Given the description of an element on the screen output the (x, y) to click on. 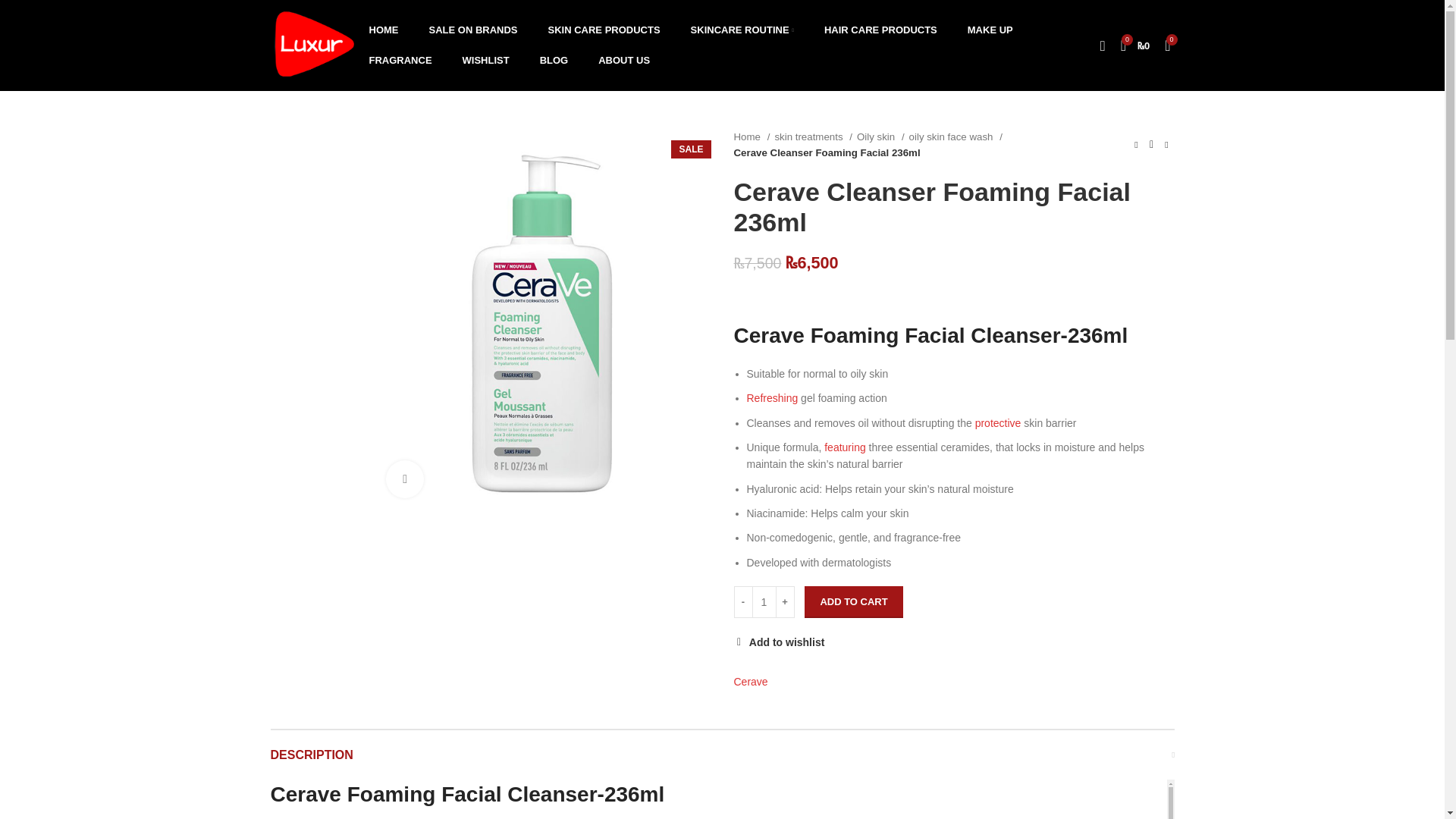
Home (751, 136)
BLOG (553, 60)
WISHLIST (485, 60)
MAKE UP (989, 30)
HOME (383, 30)
Shopping cart (1135, 45)
SALE ON BRANDS (472, 30)
View brand (750, 681)
HAIR CARE PRODUCTS (880, 30)
ABOUT US (624, 60)
SKIN CARE PRODUCTS (603, 30)
SKINCARE ROUTINE (742, 30)
skin treatments (812, 136)
FRAGRANCE (399, 60)
